Given the description of an element on the screen output the (x, y) to click on. 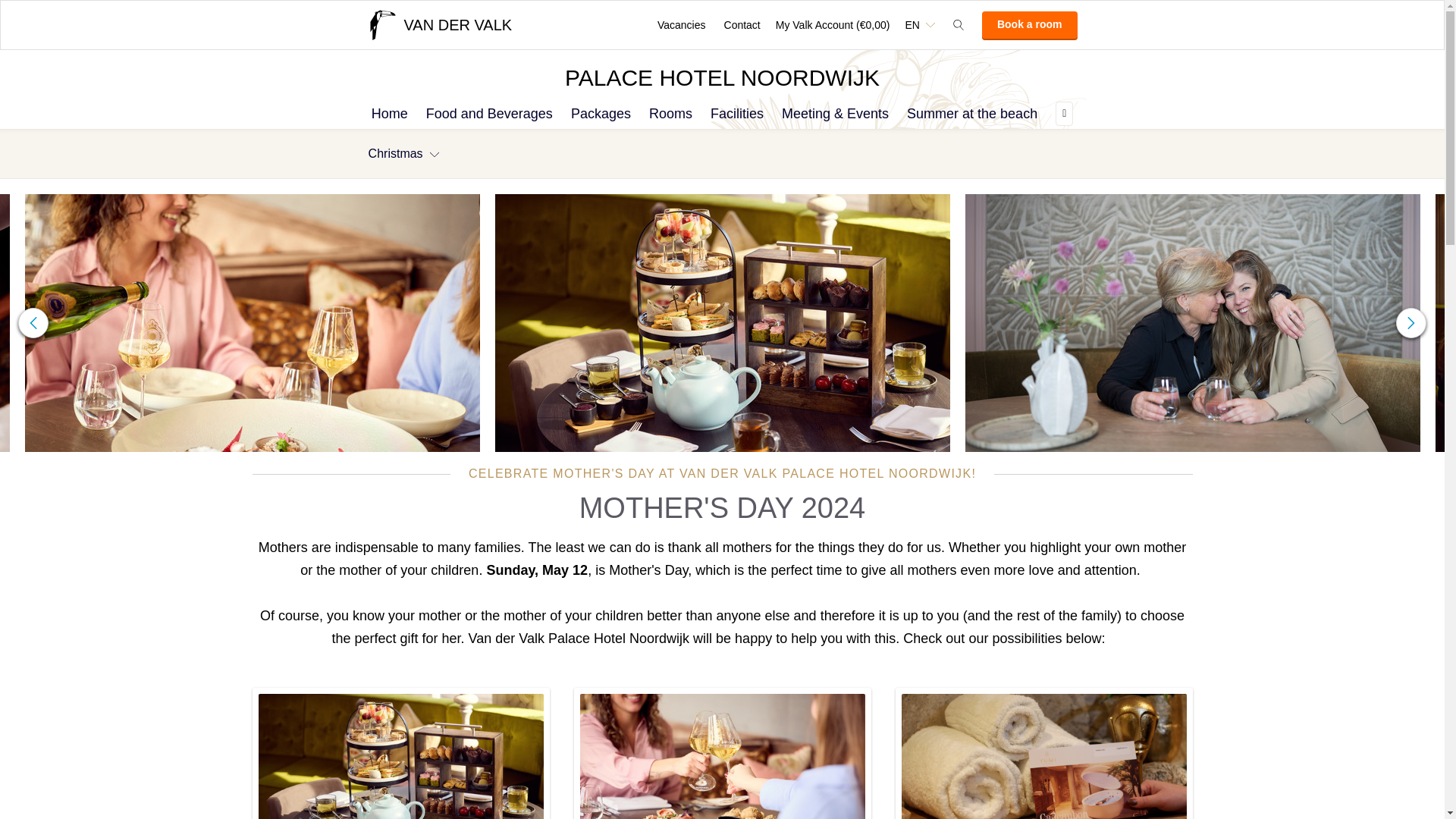
Summer at the beach (972, 113)
Book a room (1029, 24)
EN (919, 24)
Food and Beverages (489, 113)
Vacancies (680, 24)
Contact (742, 24)
Rooms (671, 113)
Packages (601, 113)
Home (389, 113)
Facilities (737, 113)
VAN DER VALK (439, 24)
